Given the description of an element on the screen output the (x, y) to click on. 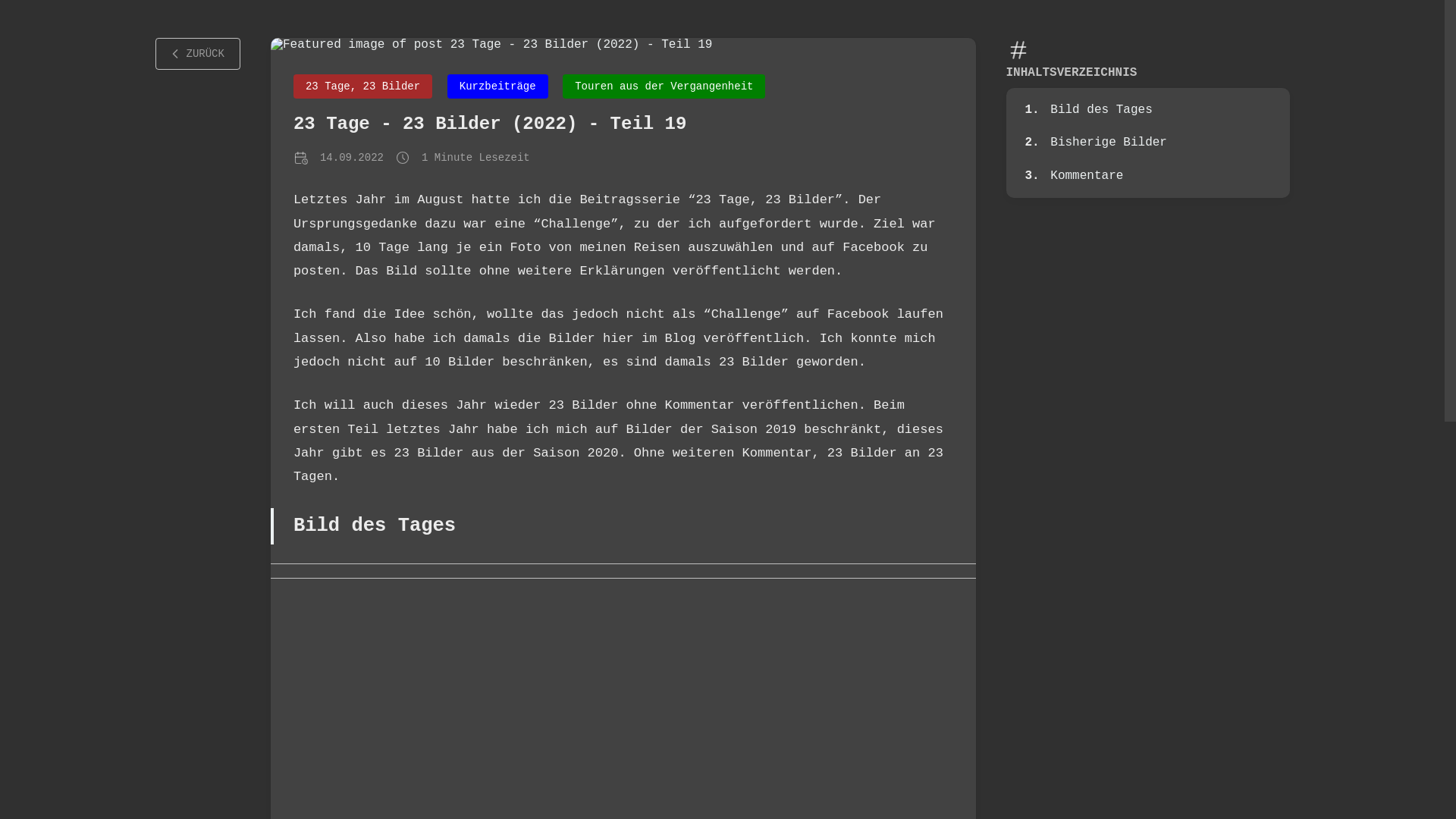
23 Tage, 23 Bilder Element type: text (362, 86)
Bisherige Bilder Element type: text (1108, 142)
Bild des Tages Element type: text (1100, 109)
Touren aus der Vergangenheit Element type: text (663, 86)
Kommentare Element type: text (1086, 175)
23 Tage - 23 Bilder (2022) - Teil 19 Element type: text (489, 123)
